Given the description of an element on the screen output the (x, y) to click on. 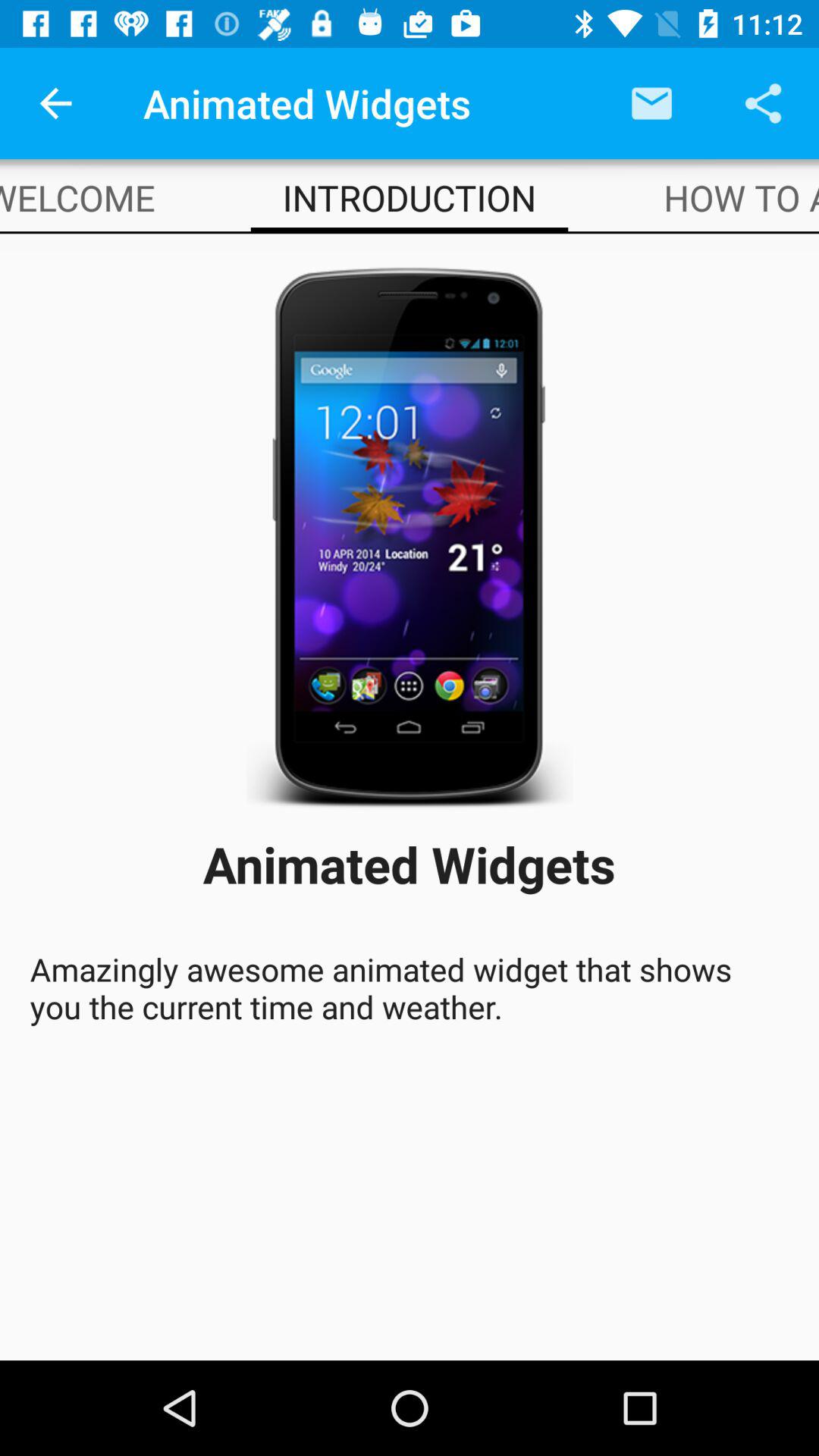
choose welcome icon (77, 197)
